Given the description of an element on the screen output the (x, y) to click on. 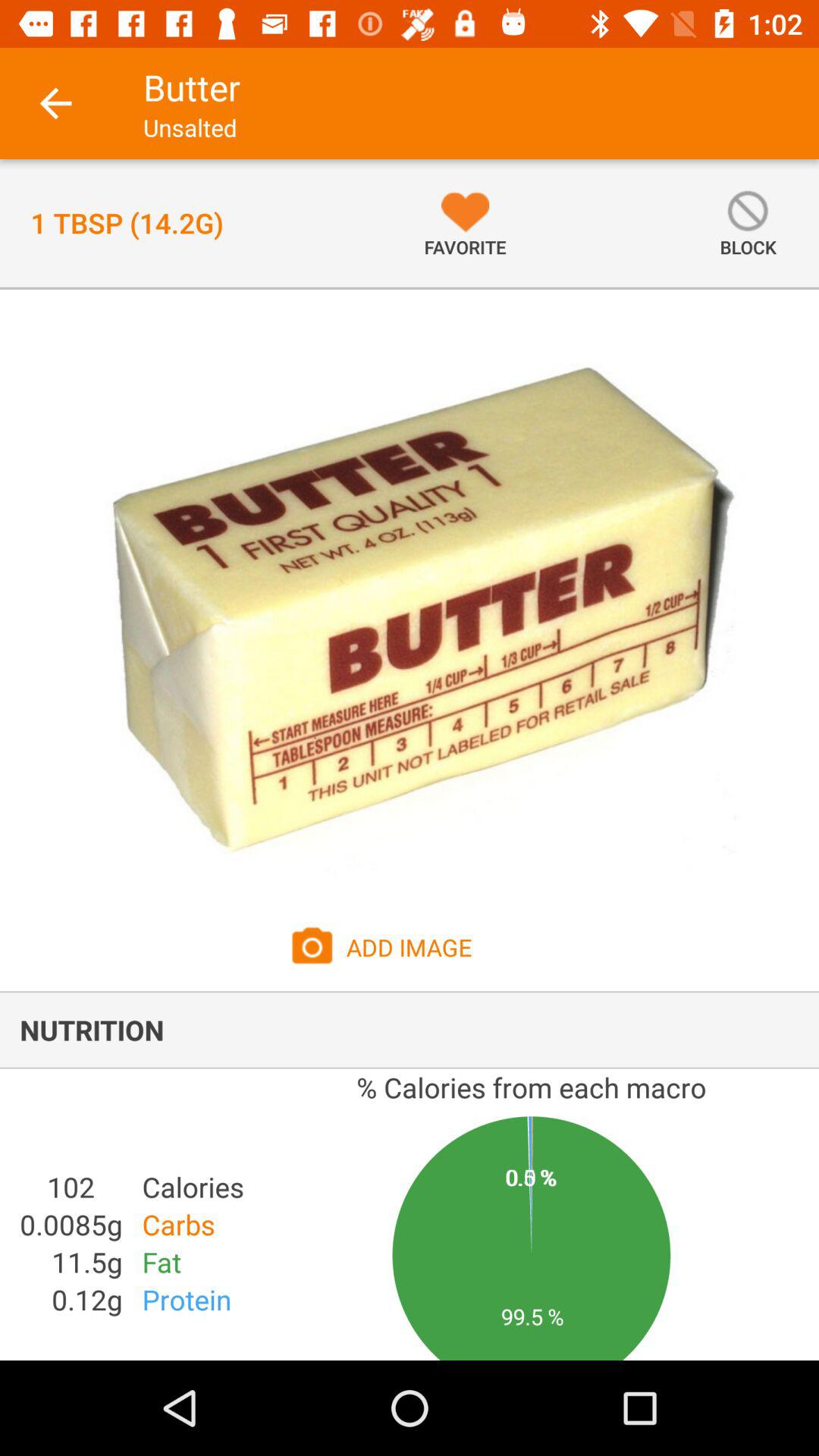
flip to the block item (748, 223)
